Given the description of an element on the screen output the (x, y) to click on. 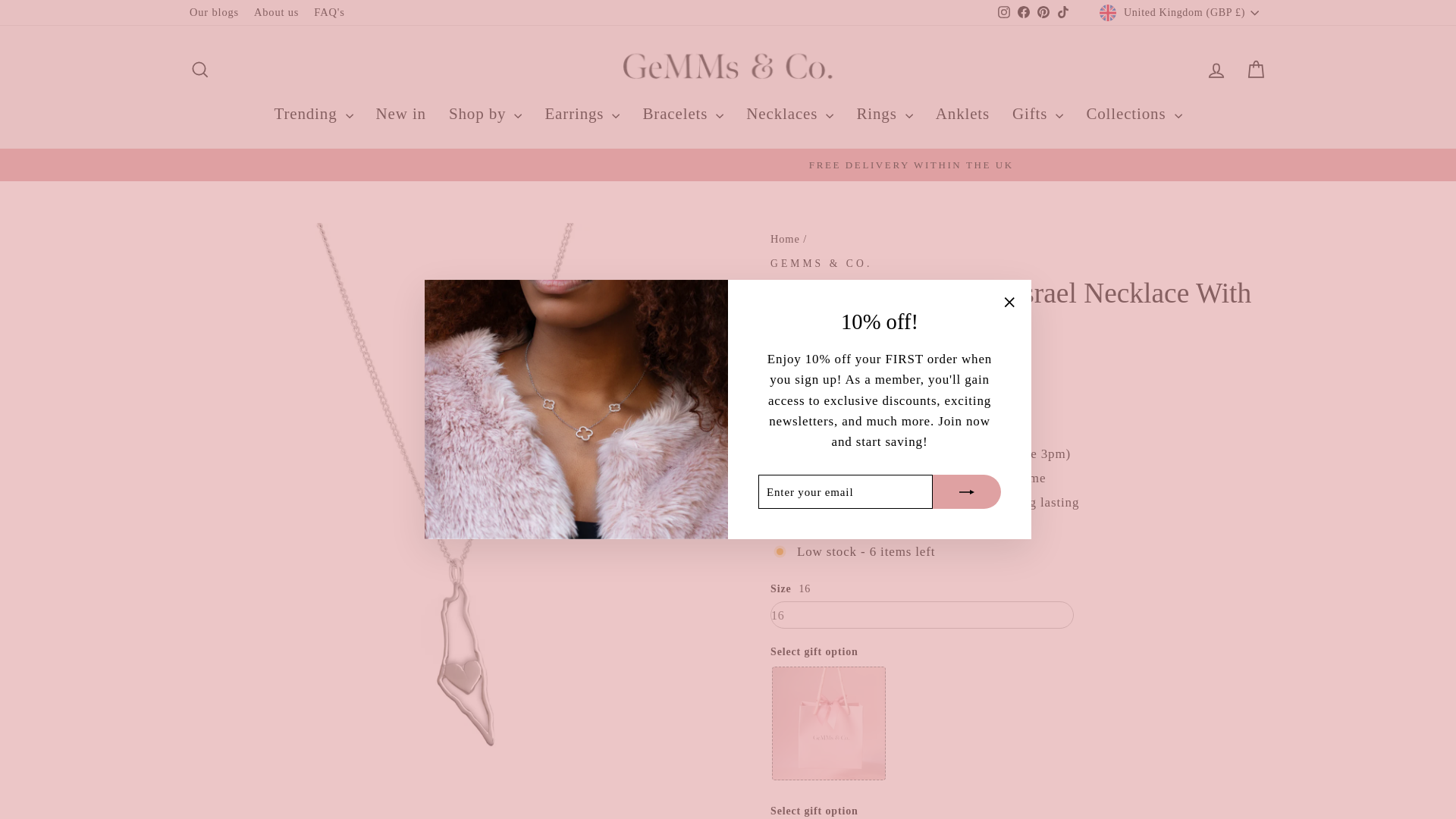
icon-X (1009, 301)
instagram (1003, 11)
icon-search (200, 69)
account (1216, 70)
Back to the frontpage (784, 238)
